Given the description of an element on the screen output the (x, y) to click on. 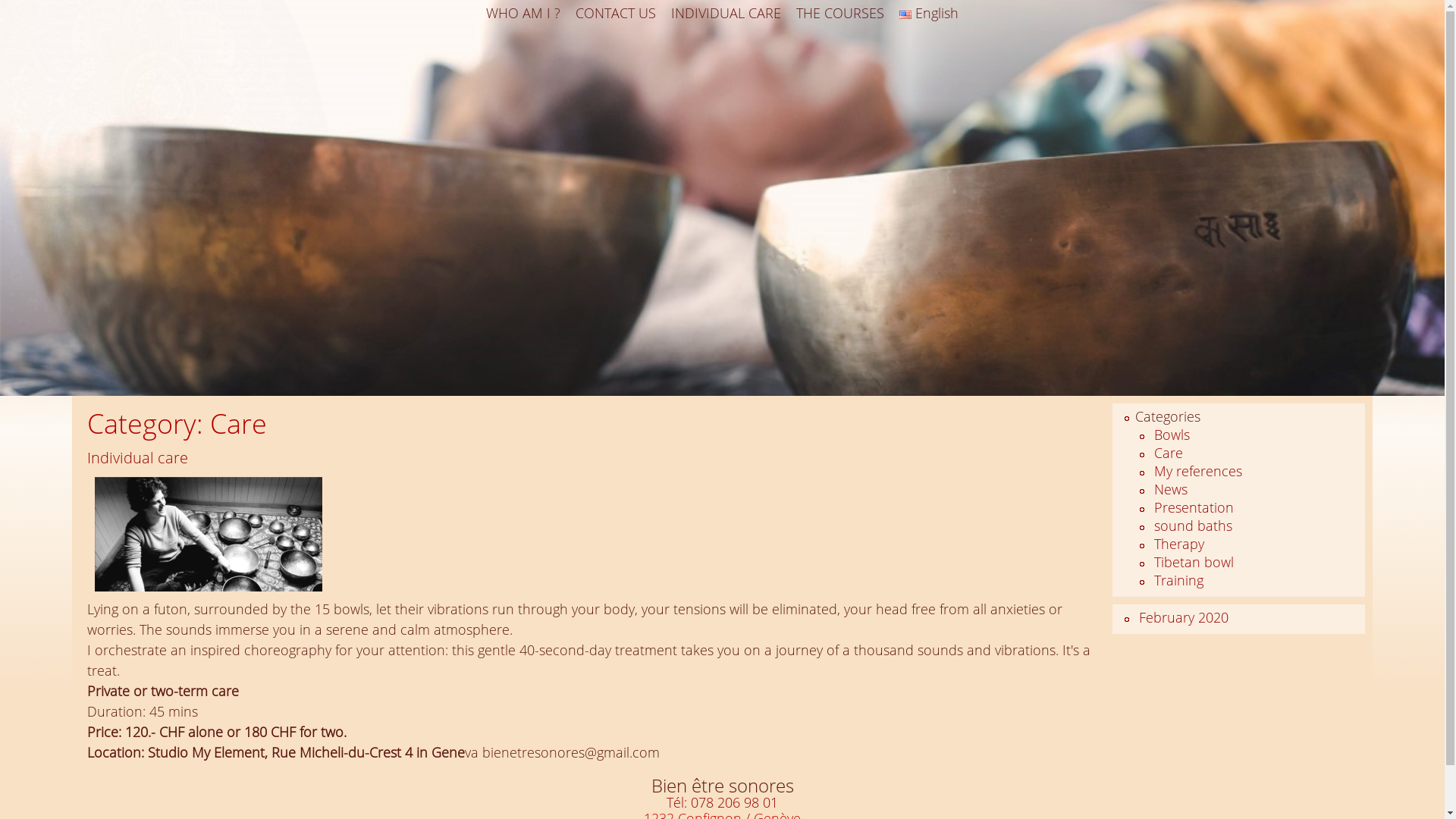
Presentation Element type: text (1193, 507)
English Element type: text (928, 13)
sound baths Element type: text (1193, 525)
Bowls Element type: text (1171, 434)
News Element type: text (1170, 489)
CONTACT US Element type: text (615, 13)
INDIVIDUAL CARE Element type: text (725, 13)
Care Element type: text (1168, 452)
My references Element type: text (1198, 470)
THE COURSES Element type: text (839, 13)
Therapy Element type: text (1179, 543)
Tibetan bowl Element type: text (1193, 561)
February 2020 Element type: text (1183, 617)
WHO AM I ? Element type: text (522, 13)
Training Element type: text (1178, 580)
Individual care Element type: text (137, 457)
